Given the description of an element on the screen output the (x, y) to click on. 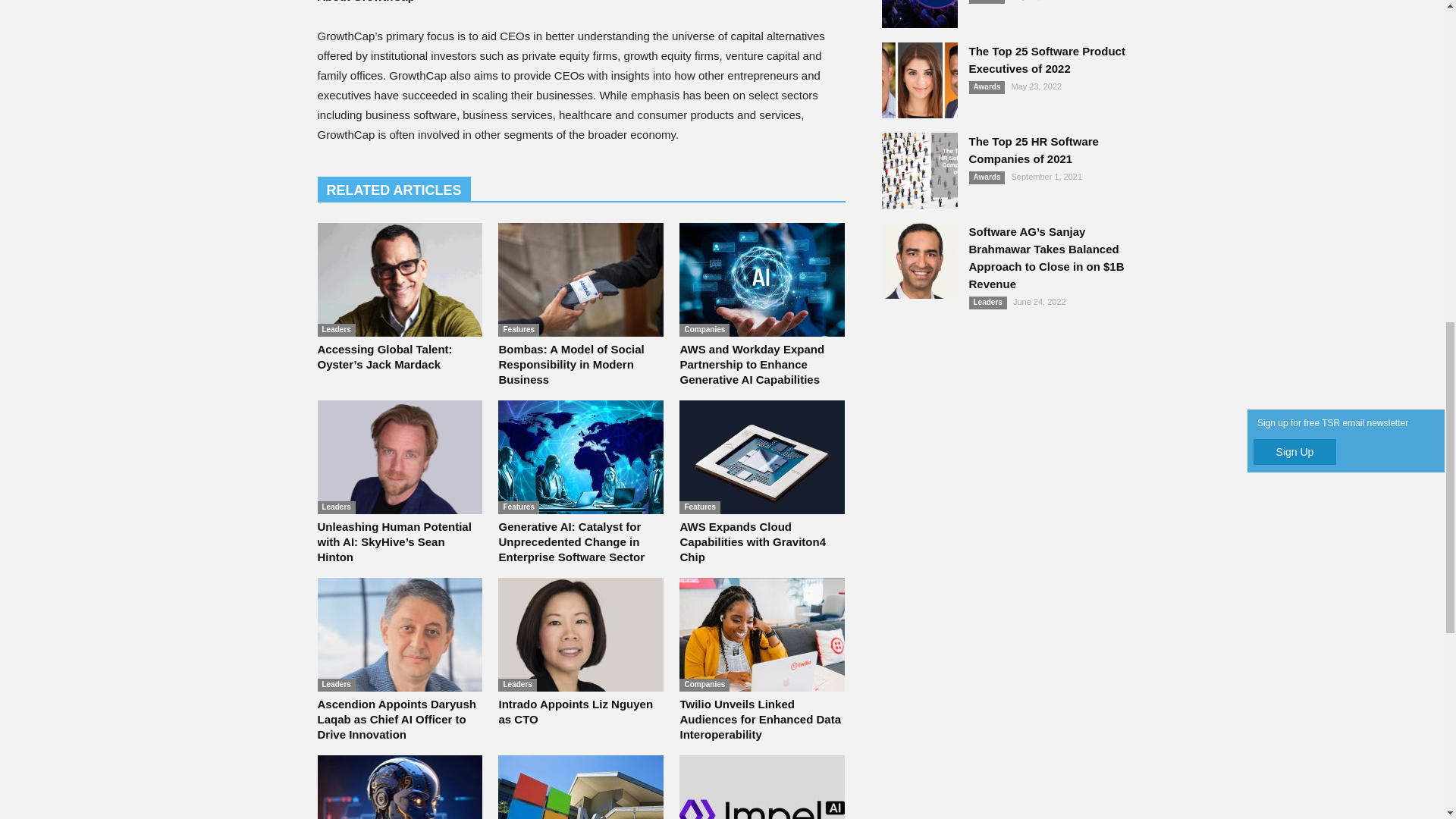
Bombas: A Model of Social Responsibility in Modern Business (570, 364)
Bombas: A Model of Social Responsibility in Modern Business (580, 279)
